Given the description of an element on the screen output the (x, y) to click on. 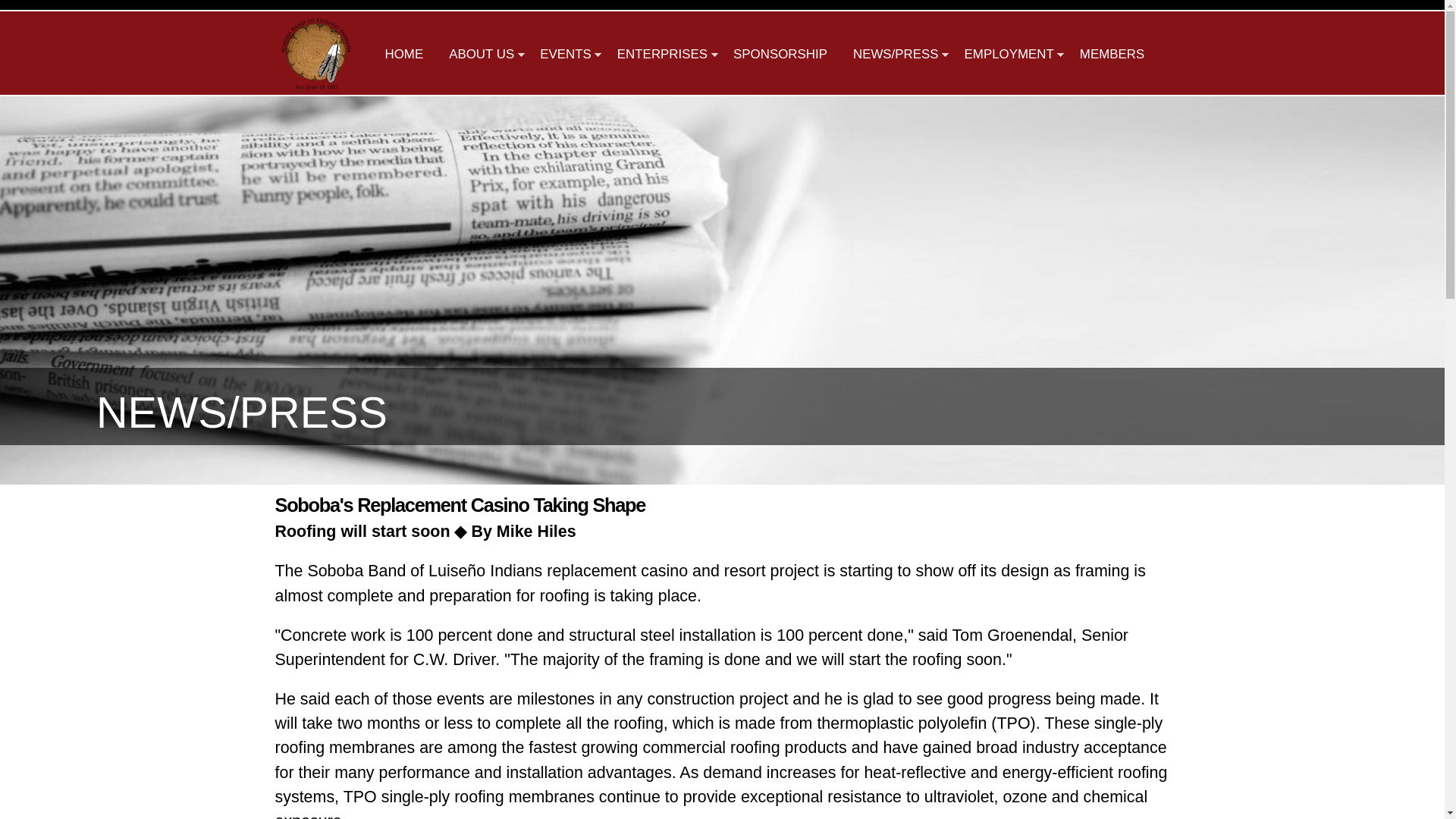
SPONSORSHIP (780, 52)
Skip to main content (693, 1)
Soboba Band of Luiseno Indians (316, 82)
